Given the description of an element on the screen output the (x, y) to click on. 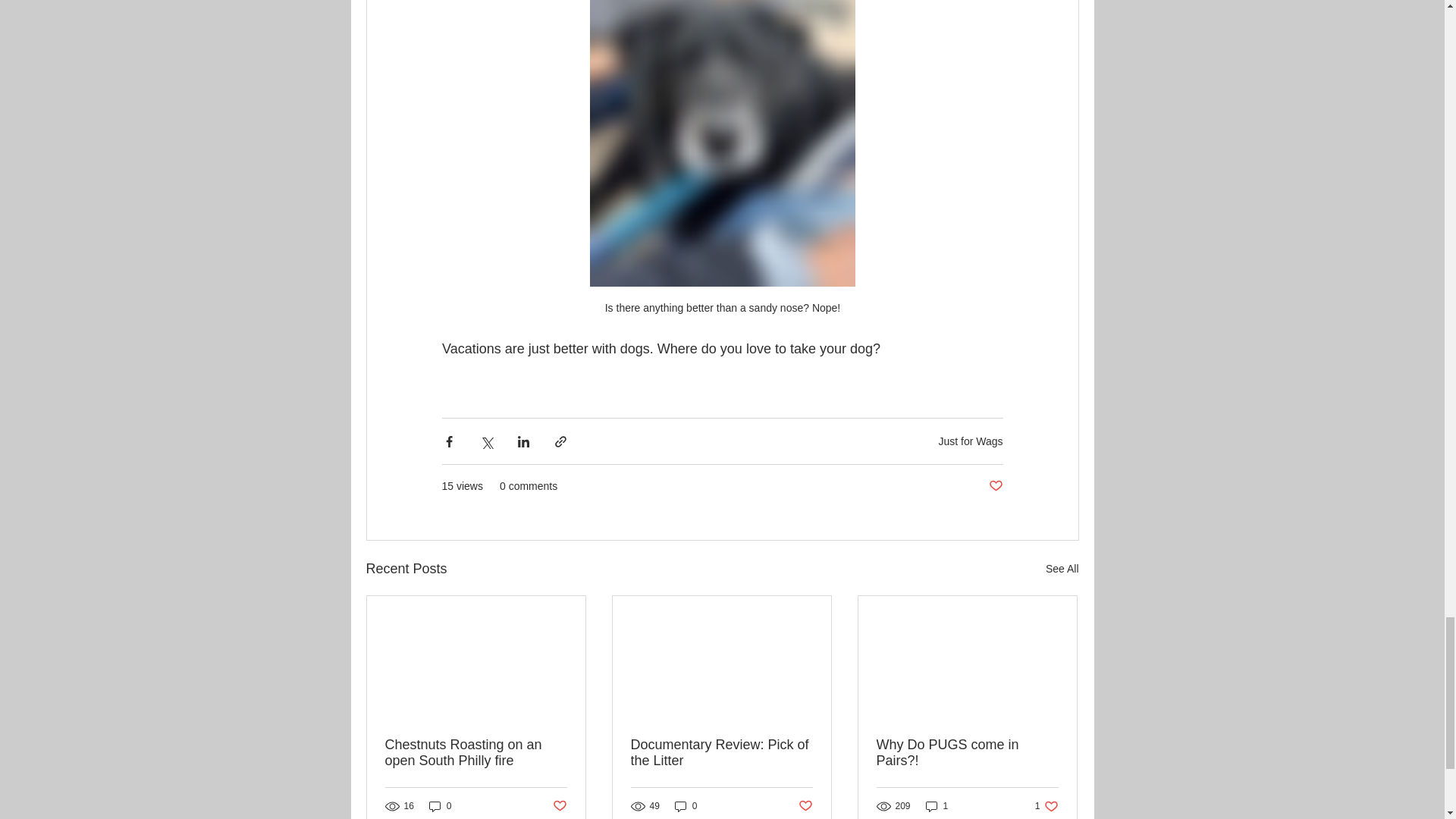
Why Do PUGS come in Pairs?! (1046, 806)
Post not marked as liked (967, 753)
Documentary Review: Pick of the Litter (804, 806)
Just for Wags (721, 753)
See All (970, 440)
1 (1061, 568)
Post not marked as liked (937, 806)
0 (995, 486)
0 (685, 806)
Chestnuts Roasting on an open South Philly fire (440, 806)
Post not marked as liked (476, 753)
